Given the description of an element on the screen output the (x, y) to click on. 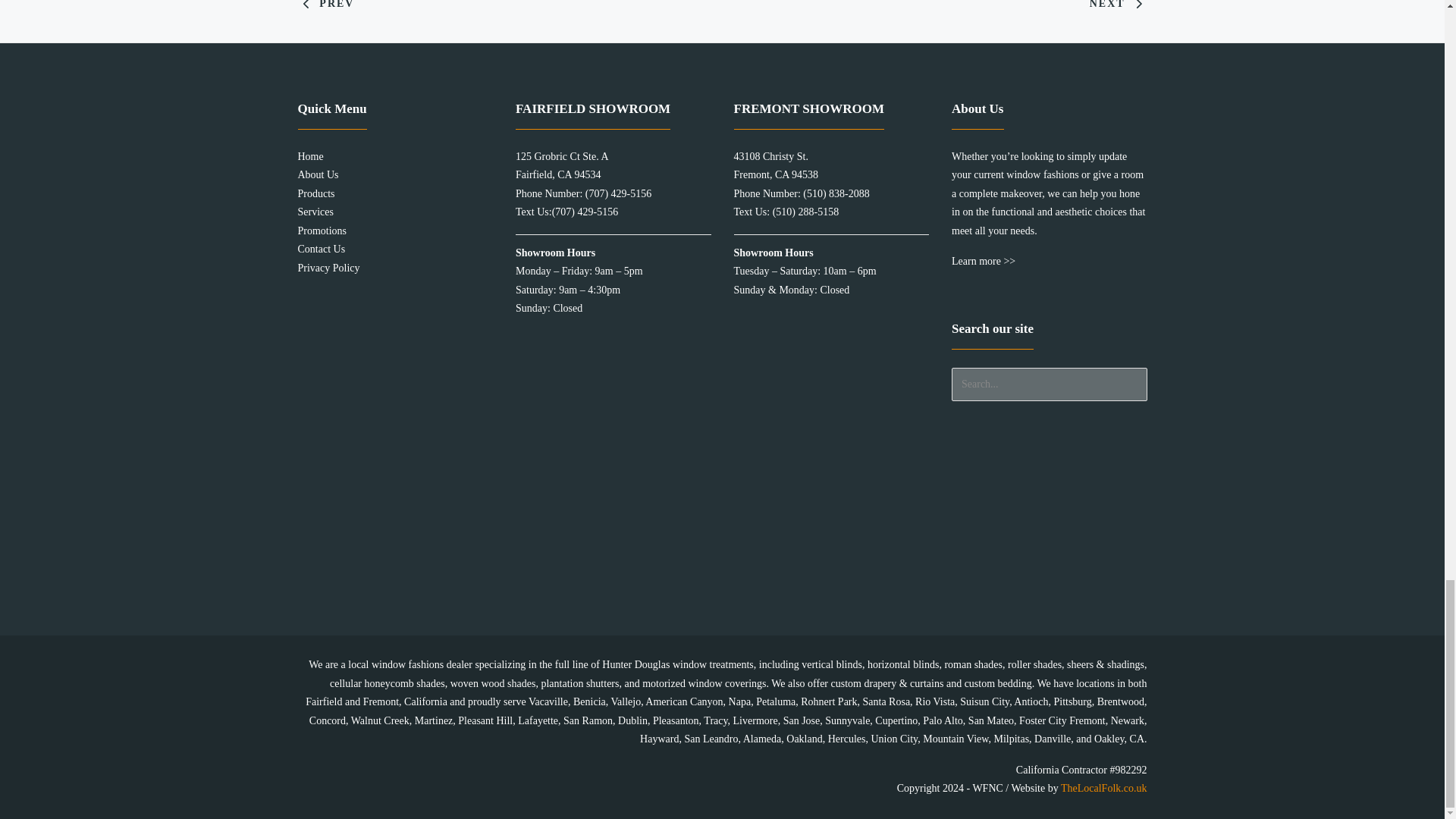
Visit our Instagram page (1051, 524)
Visit our Facebook page (1051, 482)
Visit our Yelp! page (1051, 568)
